Given the description of an element on the screen output the (x, y) to click on. 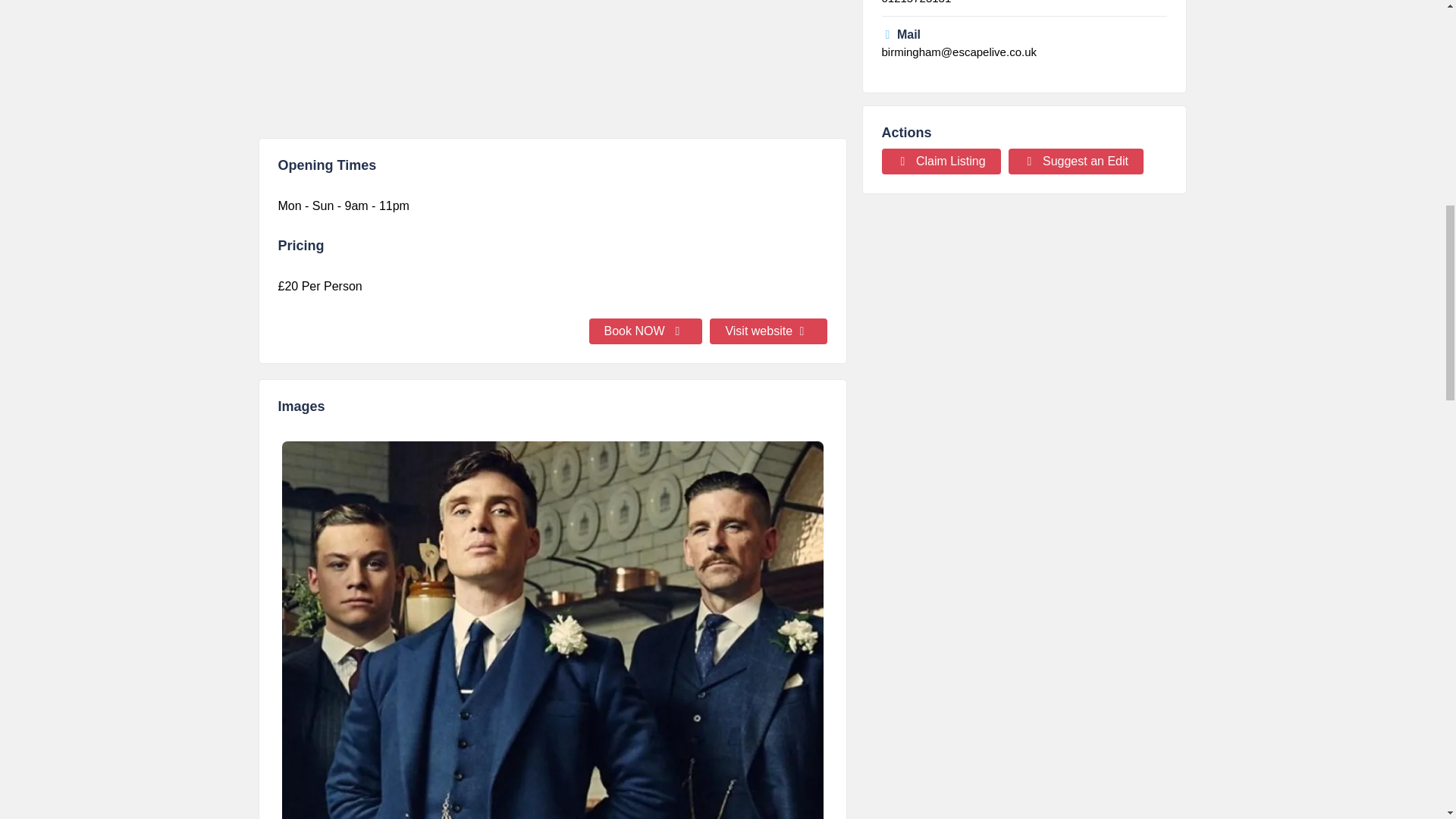
Book NOW   (646, 330)
Suggest an Edit (1075, 161)
Claim Listing (940, 161)
Advertisement (551, 61)
01215723131 (915, 2)
Visit website (768, 330)
